Given the description of an element on the screen output the (x, y) to click on. 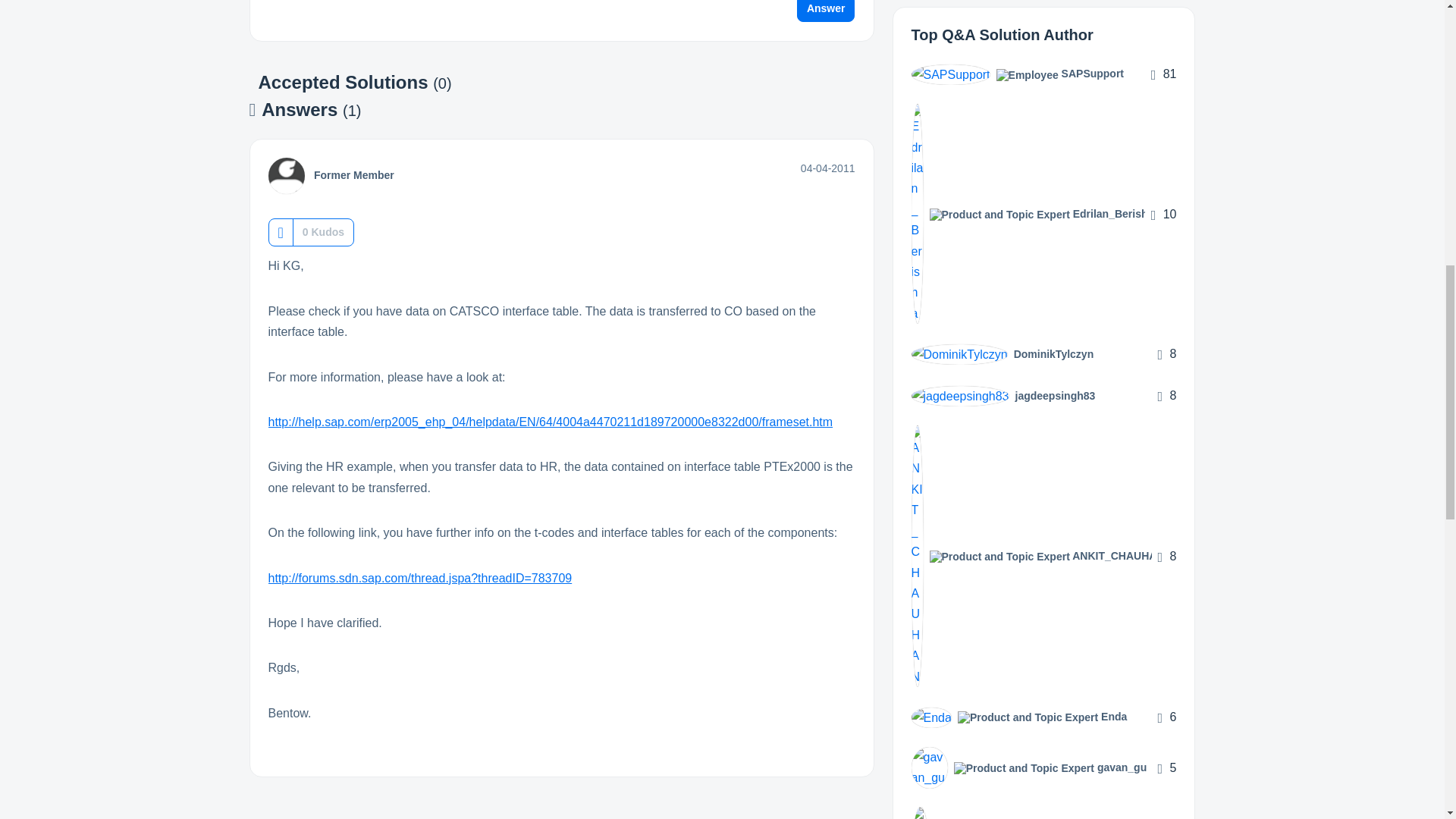
Posted on (828, 168)
The total number of kudos this post has received. (323, 231)
Answer (826, 11)
